Given the description of an element on the screen output the (x, y) to click on. 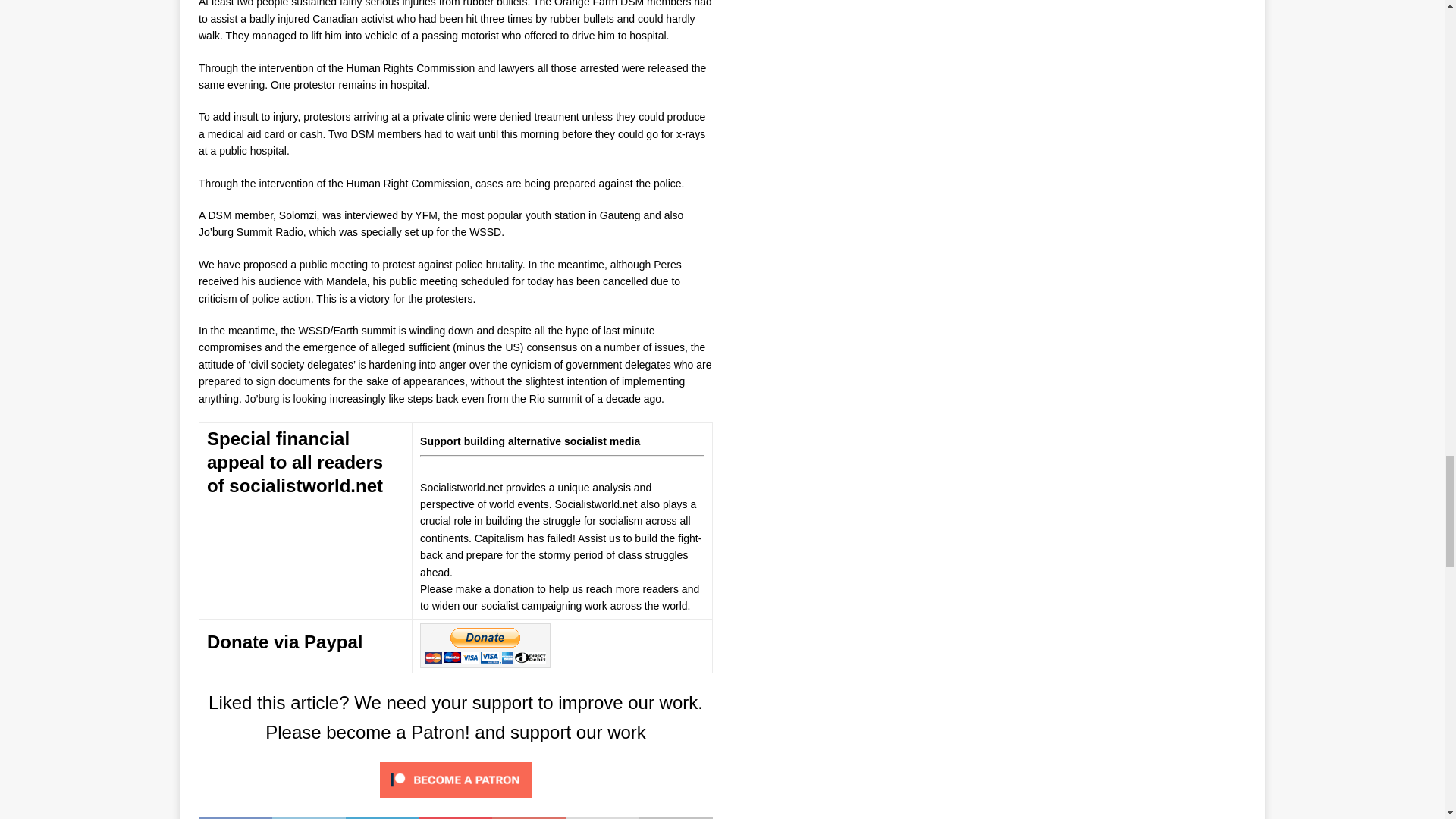
PayPal - The safer, easier way to pay online! (485, 645)
